Given the description of an element on the screen output the (x, y) to click on. 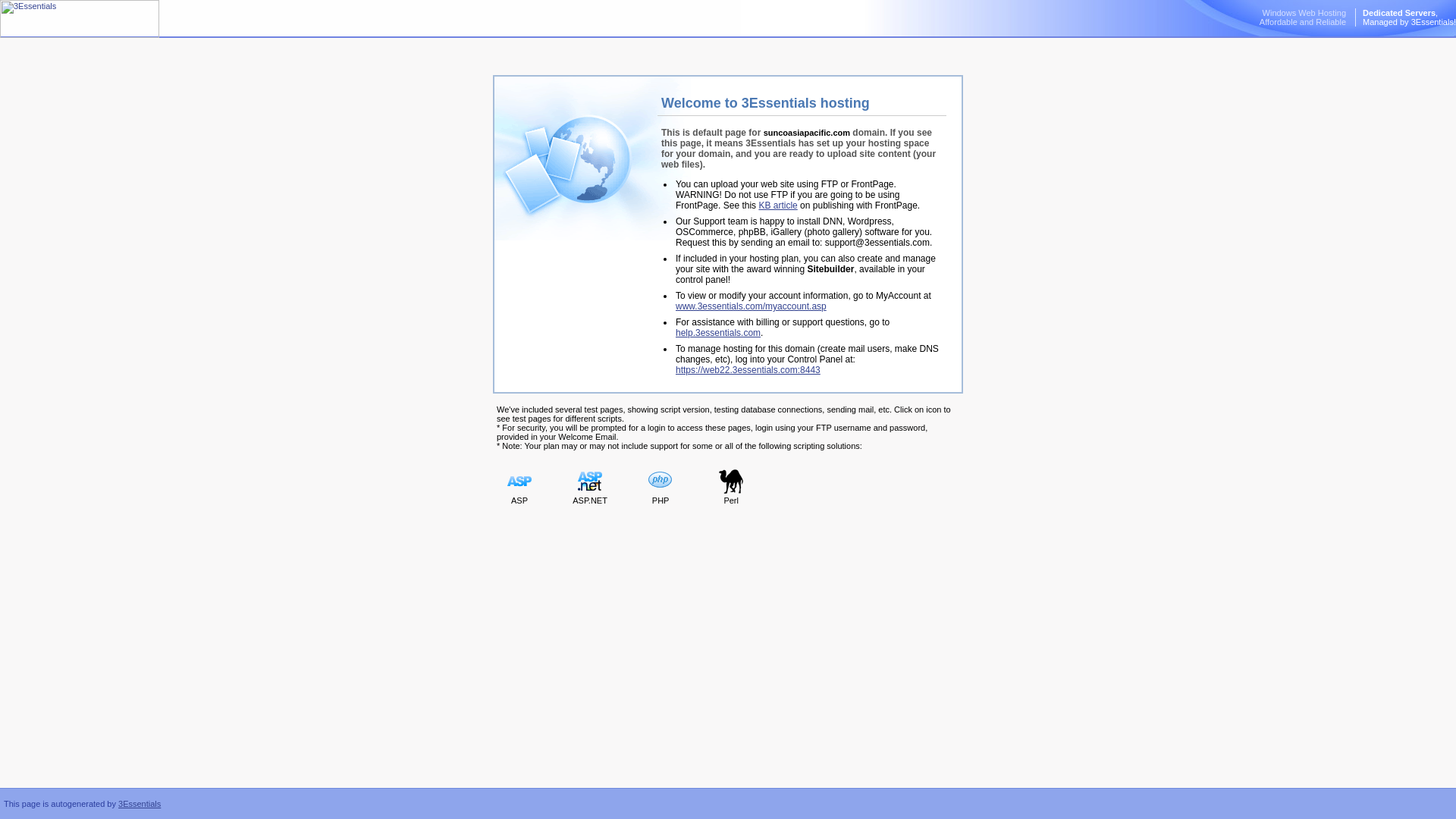
3Essentials (138, 803)
KB article (777, 204)
Perl (730, 487)
PHP (660, 487)
3Essentials (79, 18)
help.3essentials.com (717, 332)
ASP.NET (1302, 17)
ASP (589, 487)
